Given the description of an element on the screen output the (x, y) to click on. 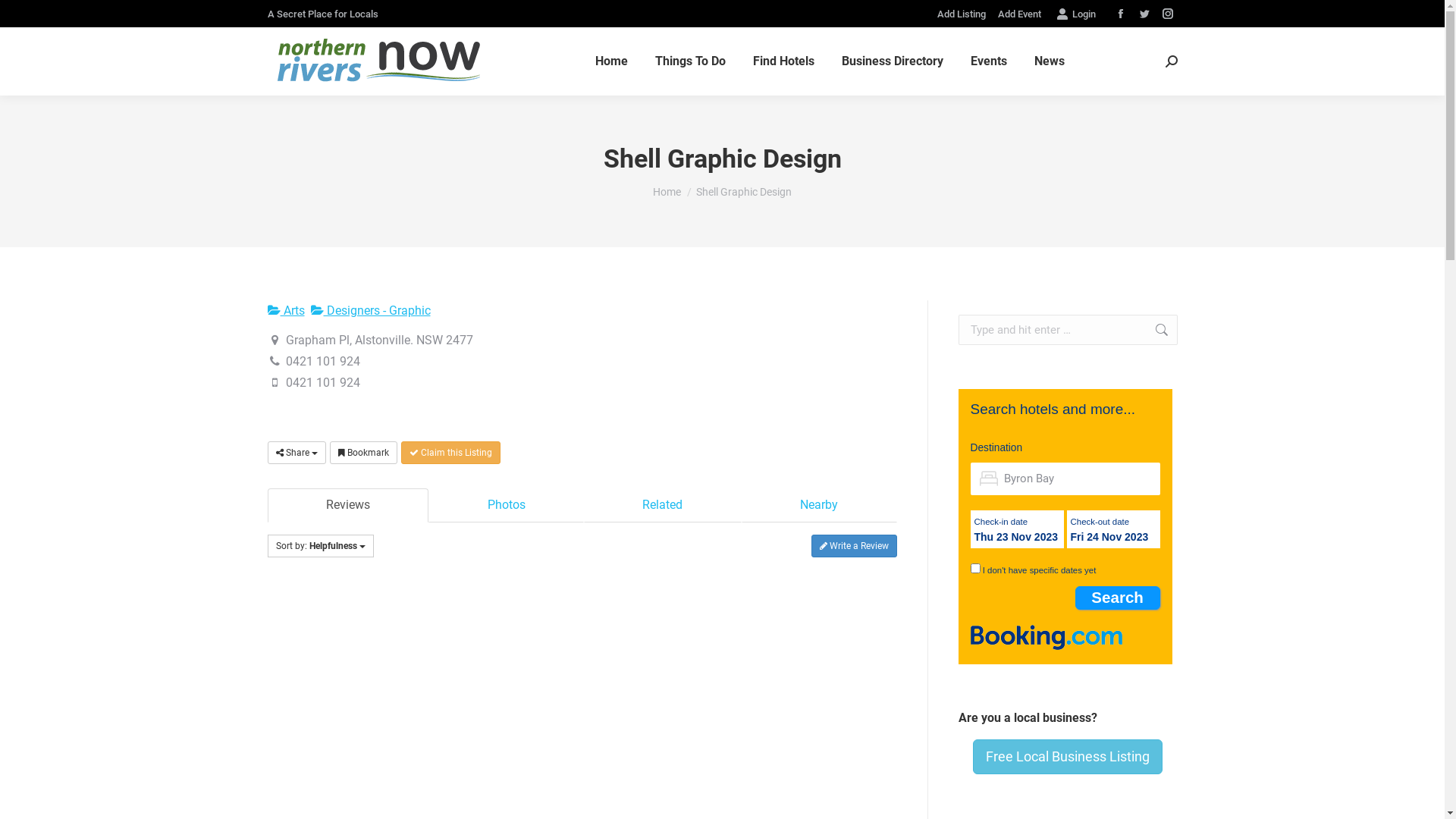
Search Element type: text (1117, 597)
Events Element type: text (988, 60)
Home Element type: text (666, 191)
Related Element type: text (662, 505)
Go! Element type: text (1154, 329)
Add Event Element type: text (1019, 13)
Nearby Element type: text (819, 505)
Sort by: Helpfulness Element type: text (319, 545)
Go! Element type: text (23, 16)
Bookmark Element type: text (362, 452)
Designers - Graphic Element type: text (370, 310)
Business Directory Element type: text (892, 60)
Write a Review Element type: text (854, 545)
Free Local Business Listing Element type: text (1067, 756)
News Element type: text (1049, 60)
Things To Do Element type: text (690, 60)
Arts Element type: text (285, 310)
Instagram page opens in new window Element type: text (1166, 13)
Facebook page opens in new window Element type: text (1119, 13)
Home Element type: text (611, 60)
Find Hotels Element type: text (783, 60)
Reviews Element type: text (347, 505)
Photos Element type: text (505, 505)
Claim this Listing Element type: text (449, 452)
Login Element type: text (1075, 13)
Share Element type: text (295, 452)
Add Listing Element type: text (961, 13)
Twitter page opens in new window Element type: text (1144, 13)
